Given the description of an element on the screen output the (x, y) to click on. 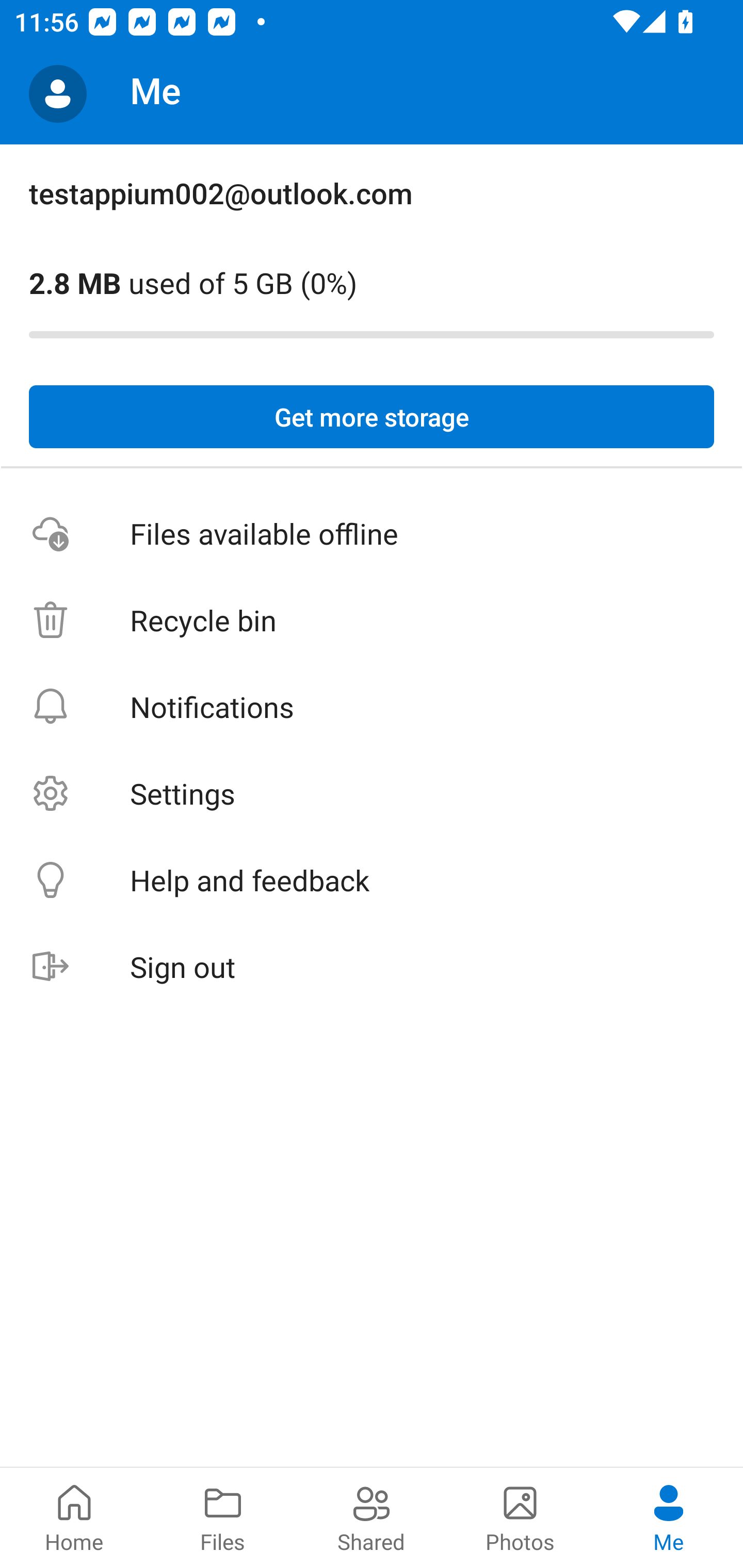
Account switcher (57, 93)
Get more storage (371, 416)
Files available offline (371, 533)
Recycle bin (371, 620)
Notifications (371, 706)
Settings (371, 793)
Help and feedback (371, 880)
Sign out (371, 966)
Home pivot Home (74, 1517)
Files pivot Files (222, 1517)
Shared pivot Shared (371, 1517)
Photos pivot Photos (519, 1517)
